Given the description of an element on the screen output the (x, y) to click on. 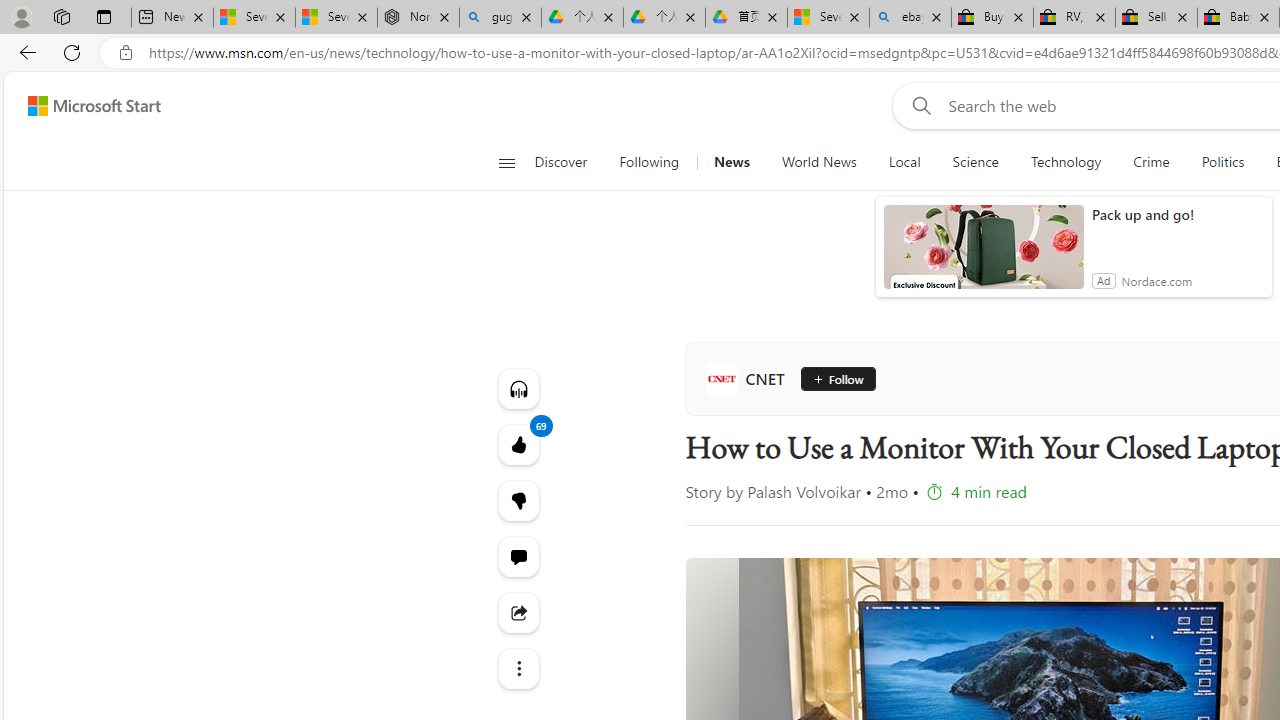
Buy Auto Parts & Accessories | eBay (992, 17)
Share this story (517, 612)
Listen to this article (517, 388)
Crime (1151, 162)
Open navigation menu (506, 162)
Share this story (517, 612)
Politics (1222, 162)
guge yunpan - Search (500, 17)
CNET (749, 378)
